Given the description of an element on the screen output the (x, y) to click on. 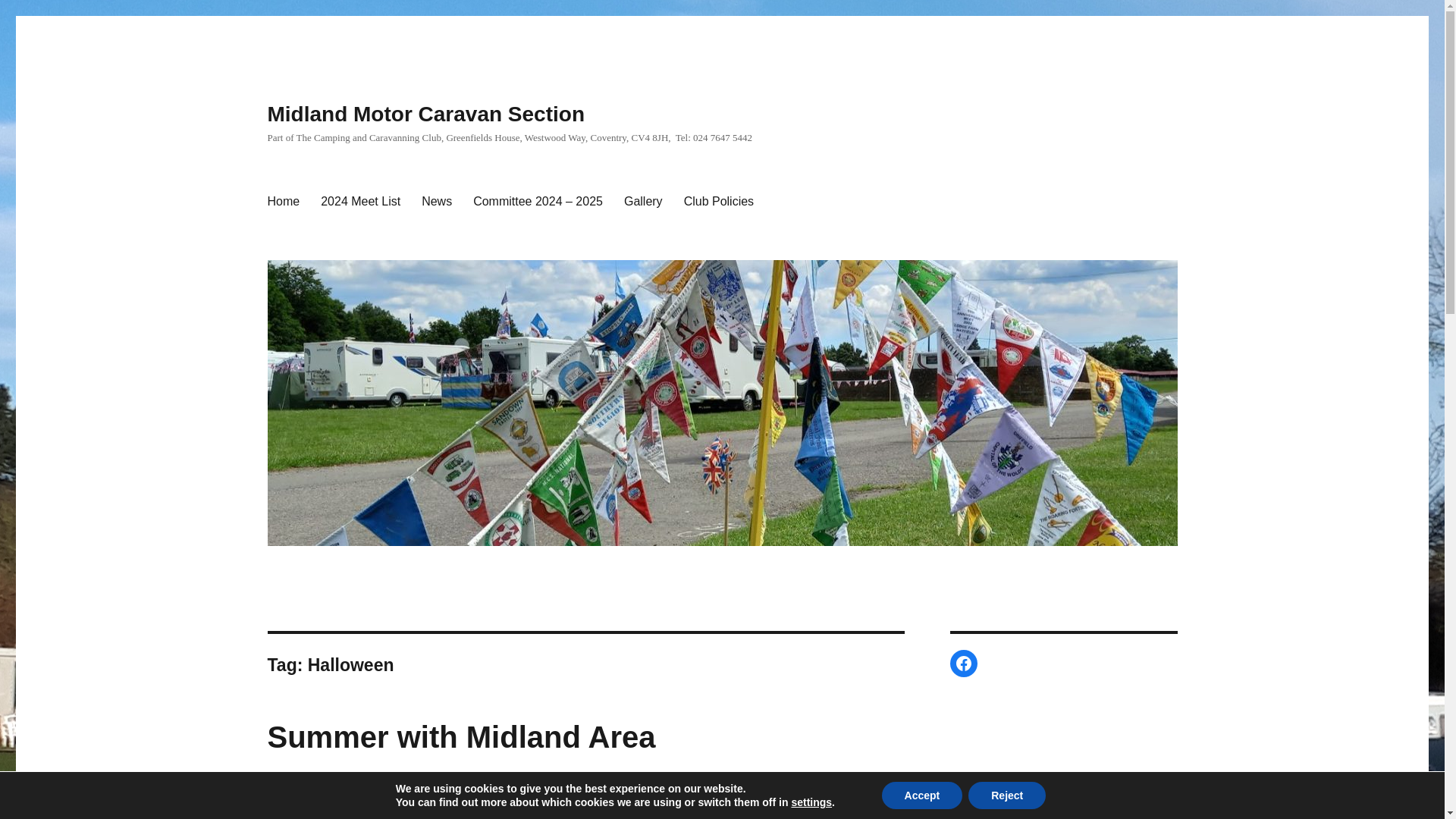
Reject (1006, 795)
Club Policies (718, 201)
Accept (922, 795)
Collingham (290, 815)
Home (283, 201)
settings (810, 802)
Facebook (962, 663)
Summer with Midland Area (460, 736)
Midland Motor Caravan Section (425, 114)
East Midlands (352, 815)
